Given the description of an element on the screen output the (x, y) to click on. 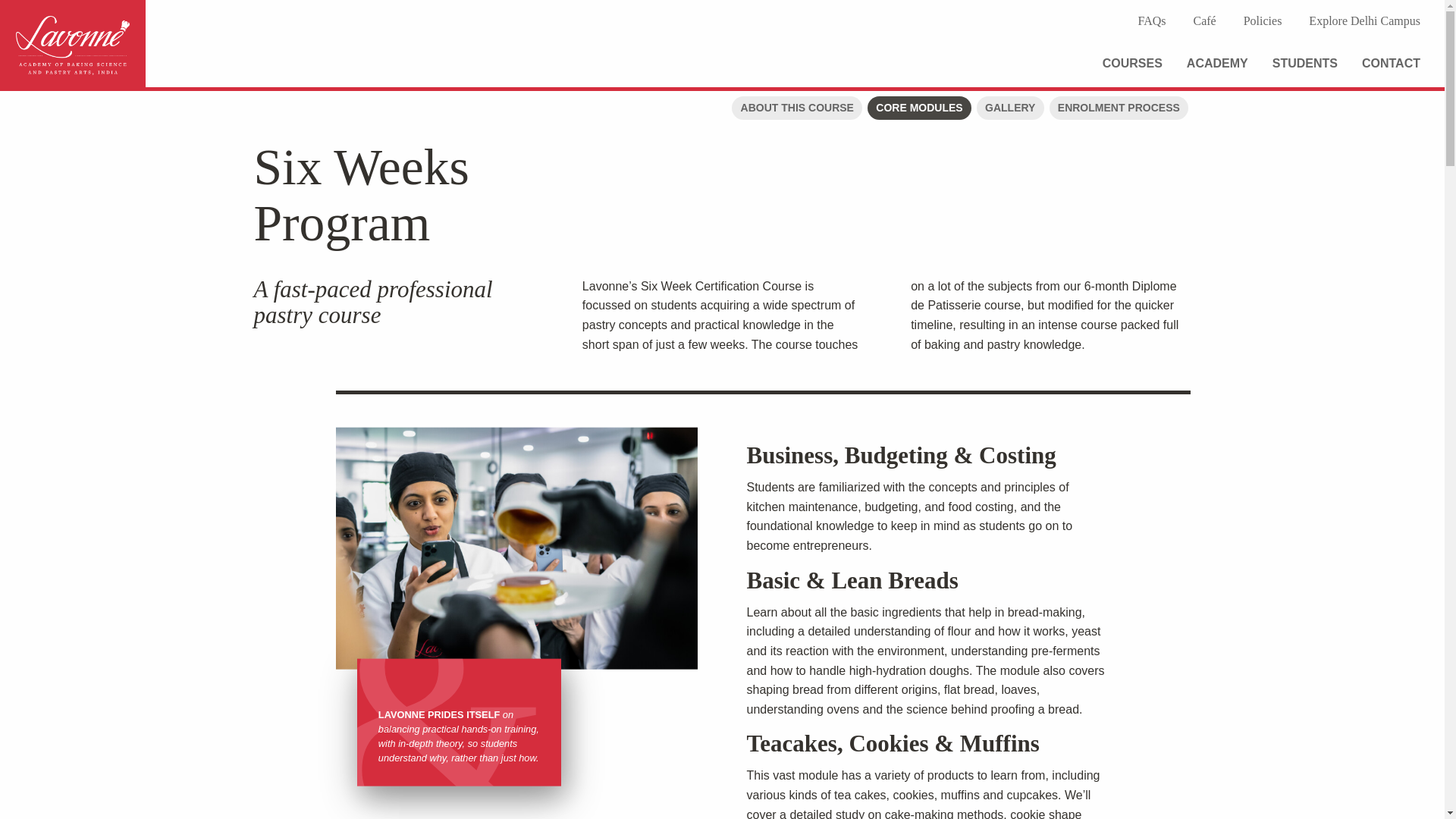
GALLERY (1009, 107)
COURSES (1131, 63)
Explore Delhi Campus (1364, 21)
CONTACT (1391, 63)
ABOUT THIS COURSE (796, 107)
CORE MODULES (919, 107)
ACADEMY (1216, 63)
ENROLMENT PROCESS (1118, 107)
Policies (1262, 21)
STUDENTS (1305, 63)
